Given the description of an element on the screen output the (x, y) to click on. 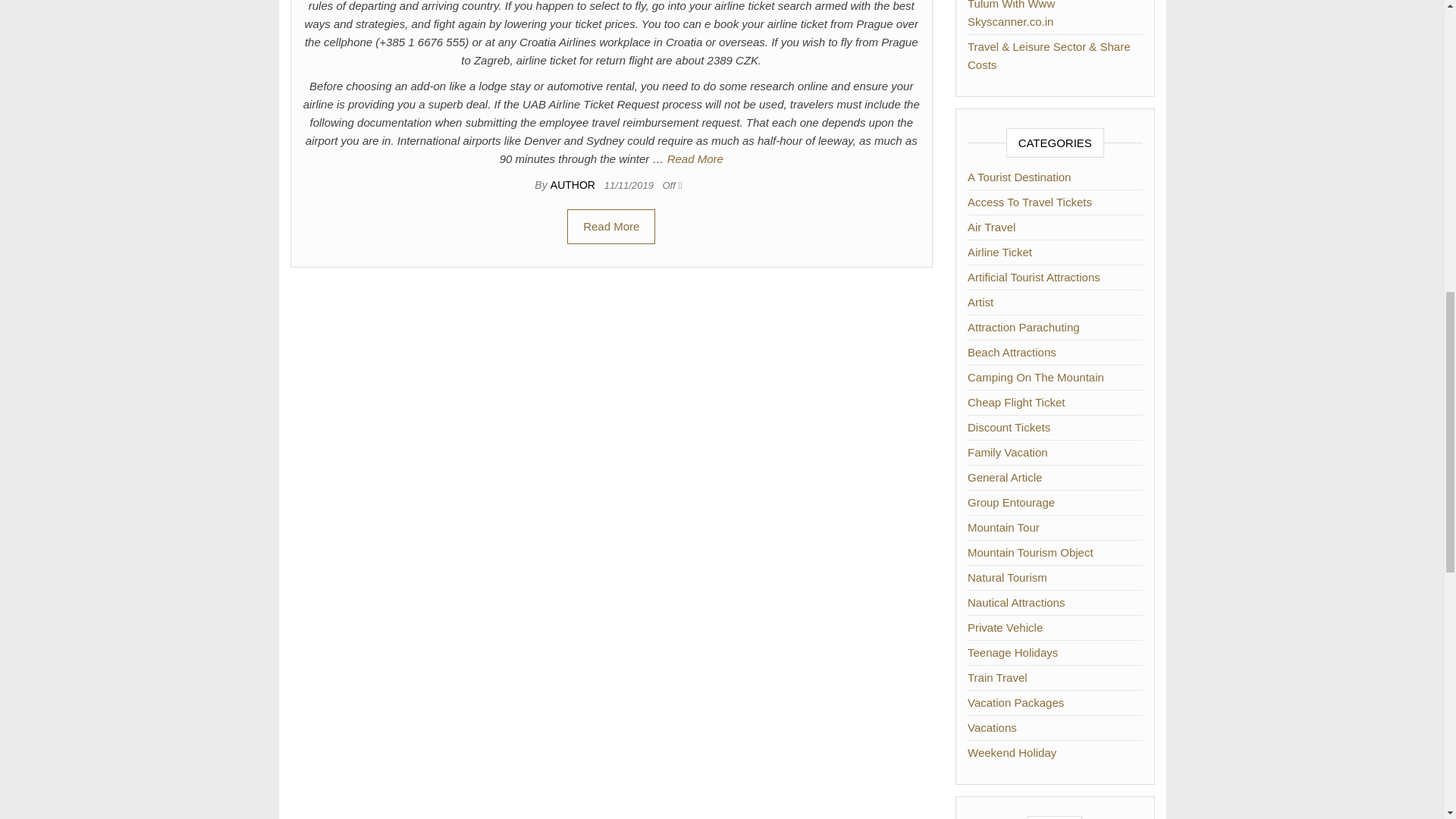
AUTHOR (574, 184)
Read More (694, 158)
Read More (611, 226)
